Given the description of an element on the screen output the (x, y) to click on. 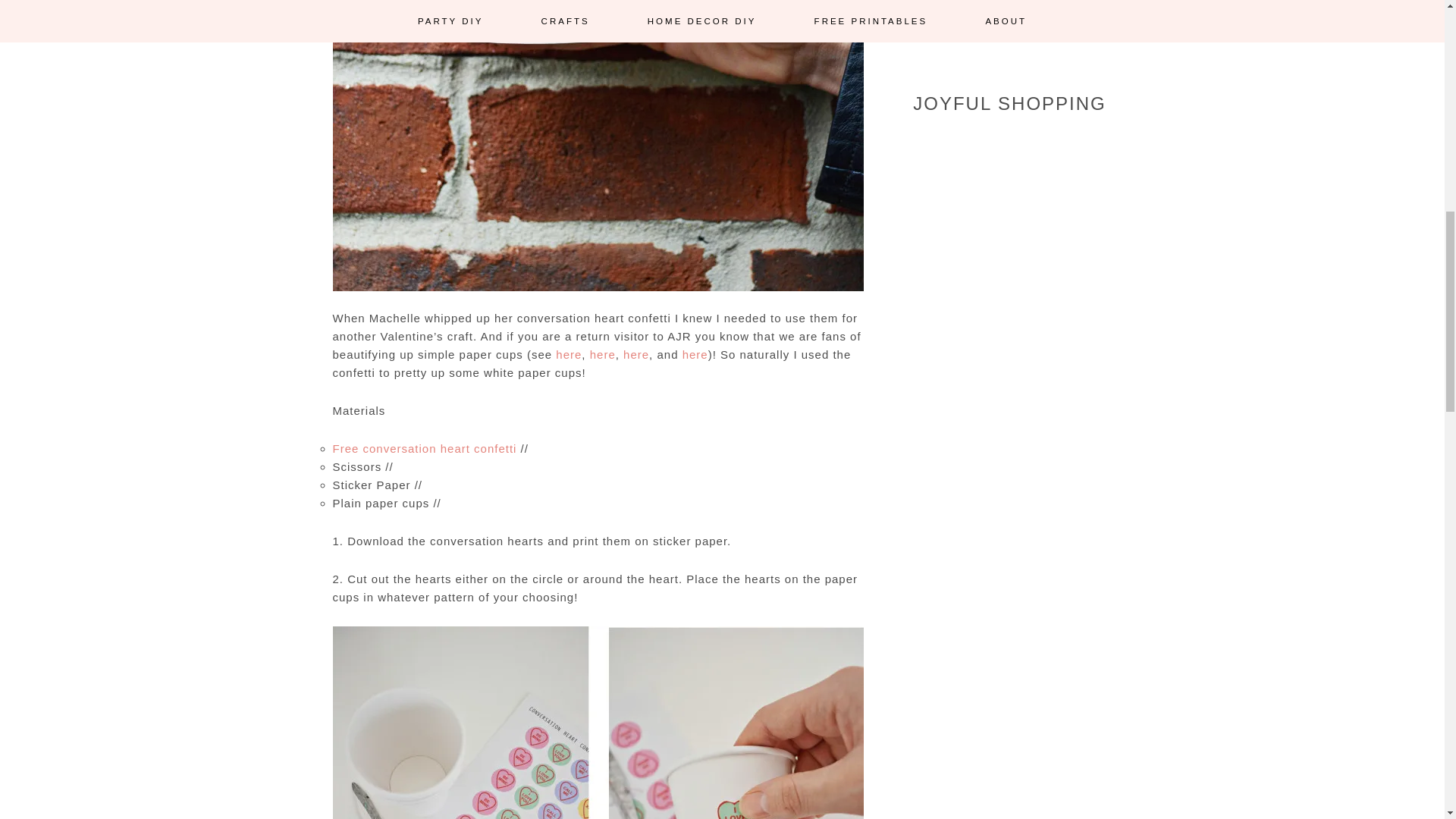
Doily Cups (568, 354)
Free conversation heart confetti (423, 448)
here (602, 354)
Sign up (1008, 23)
here (568, 354)
Washi Tape Cups (636, 354)
Sign up (1008, 23)
Glitter Dipped Cups (602, 354)
Word Party Cups (694, 354)
here (636, 354)
here (694, 354)
